Given the description of an element on the screen output the (x, y) to click on. 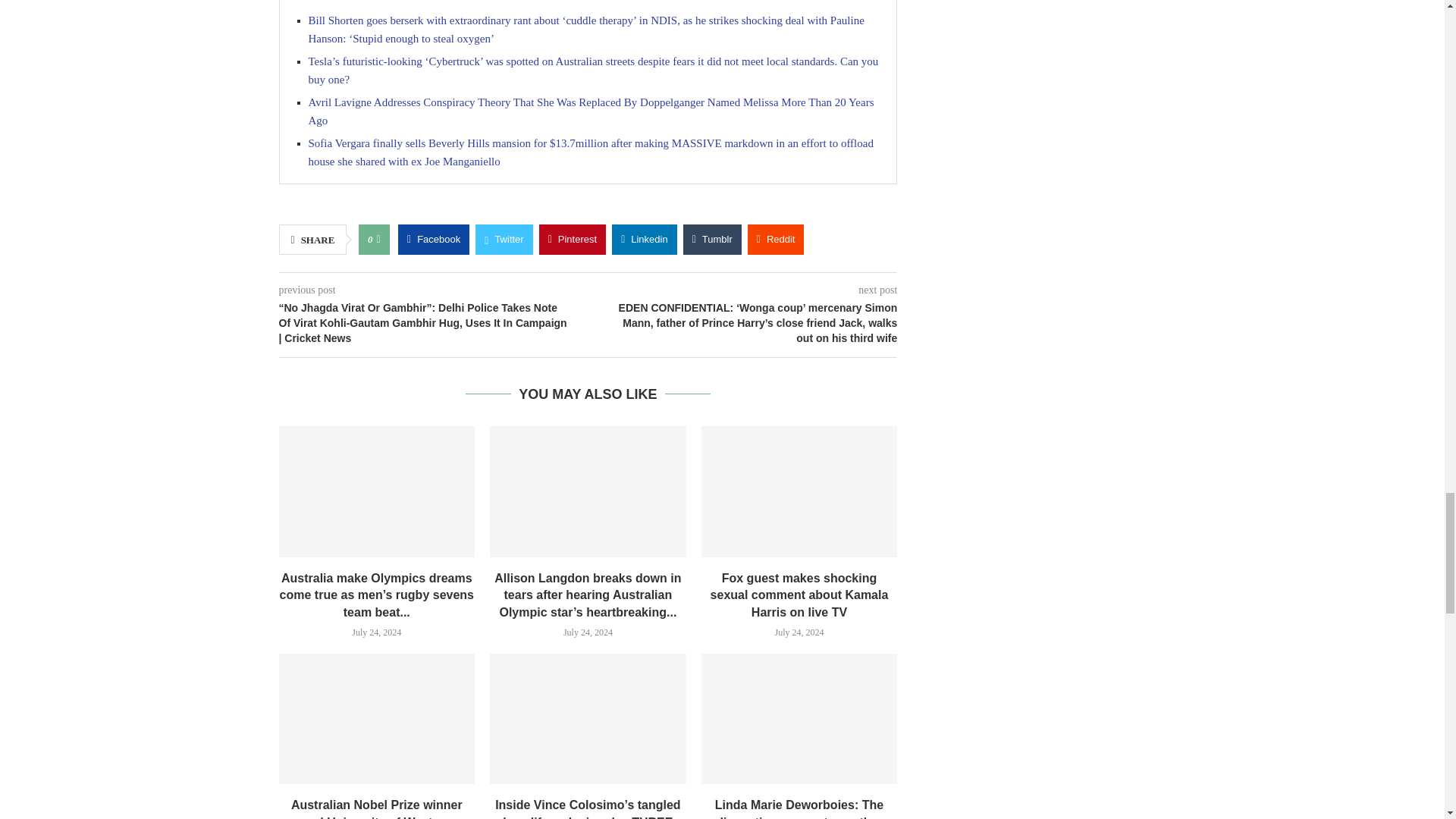
Like (377, 239)
